Given the description of an element on the screen output the (x, y) to click on. 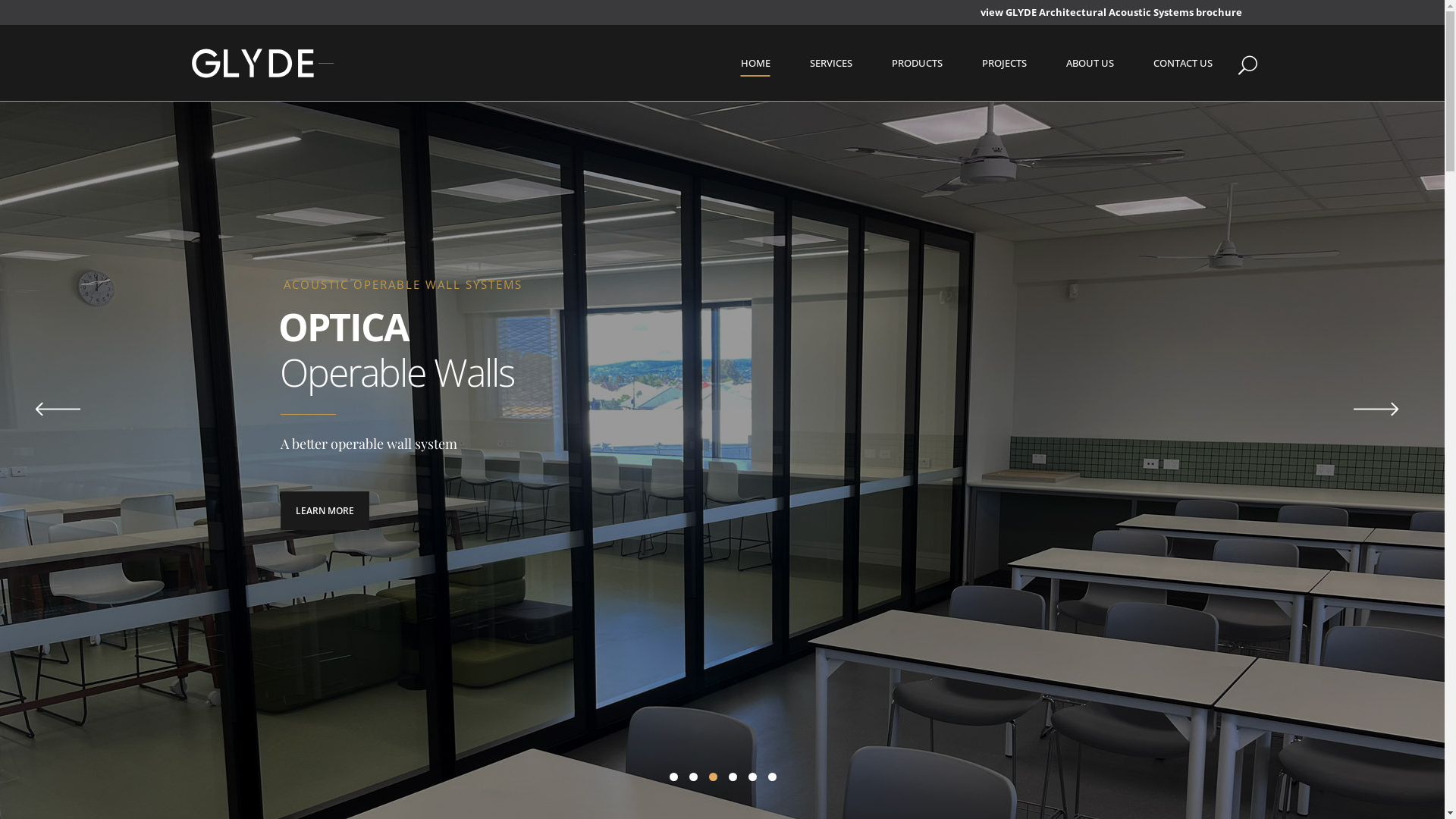
CONTACT US Element type: text (1181, 62)
LEARN MORE Element type: text (324, 510)
SERVICES Element type: text (831, 62)
ABOUT US Element type: text (1089, 62)
PRODUCTS Element type: text (917, 62)
HOME Element type: text (754, 62)
view GLYDE Architectural Acoustic Systems brochure Element type: text (1110, 11)
PROJECTS Element type: text (1003, 62)
